Given the description of an element on the screen output the (x, y) to click on. 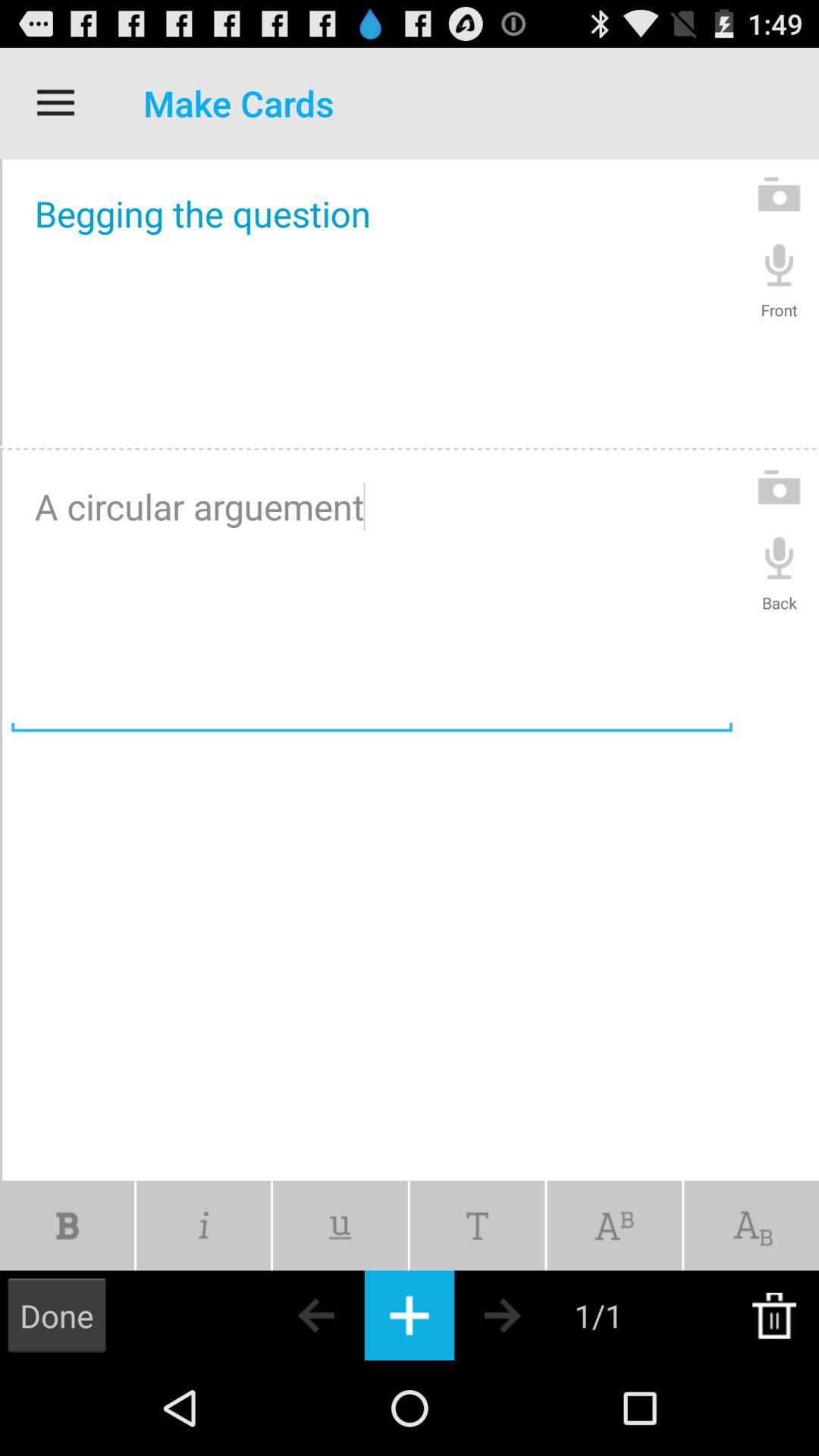
launch item at the center (371, 595)
